Given the description of an element on the screen output the (x, y) to click on. 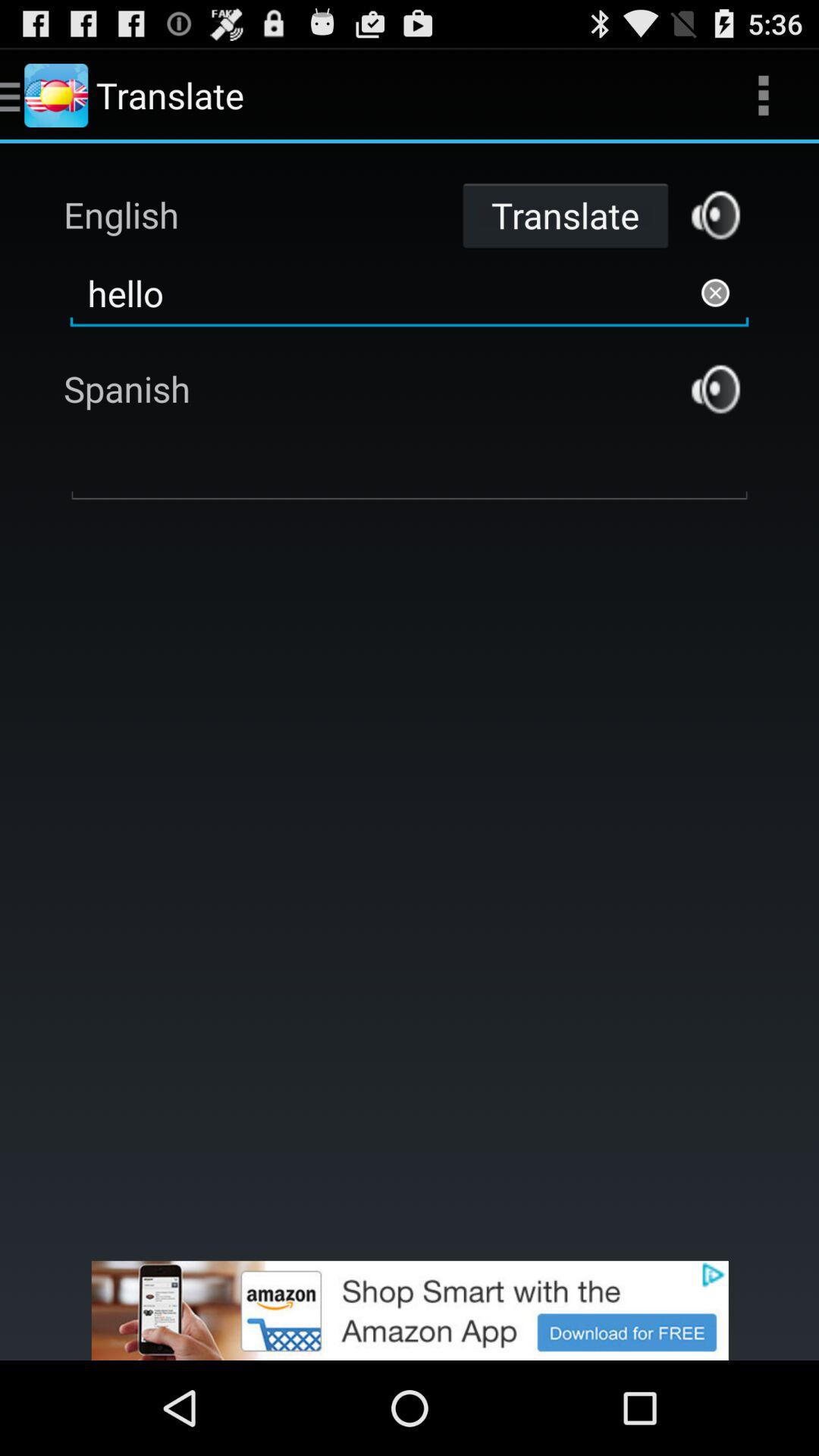
spell loudly (715, 214)
